Given the description of an element on the screen output the (x, y) to click on. 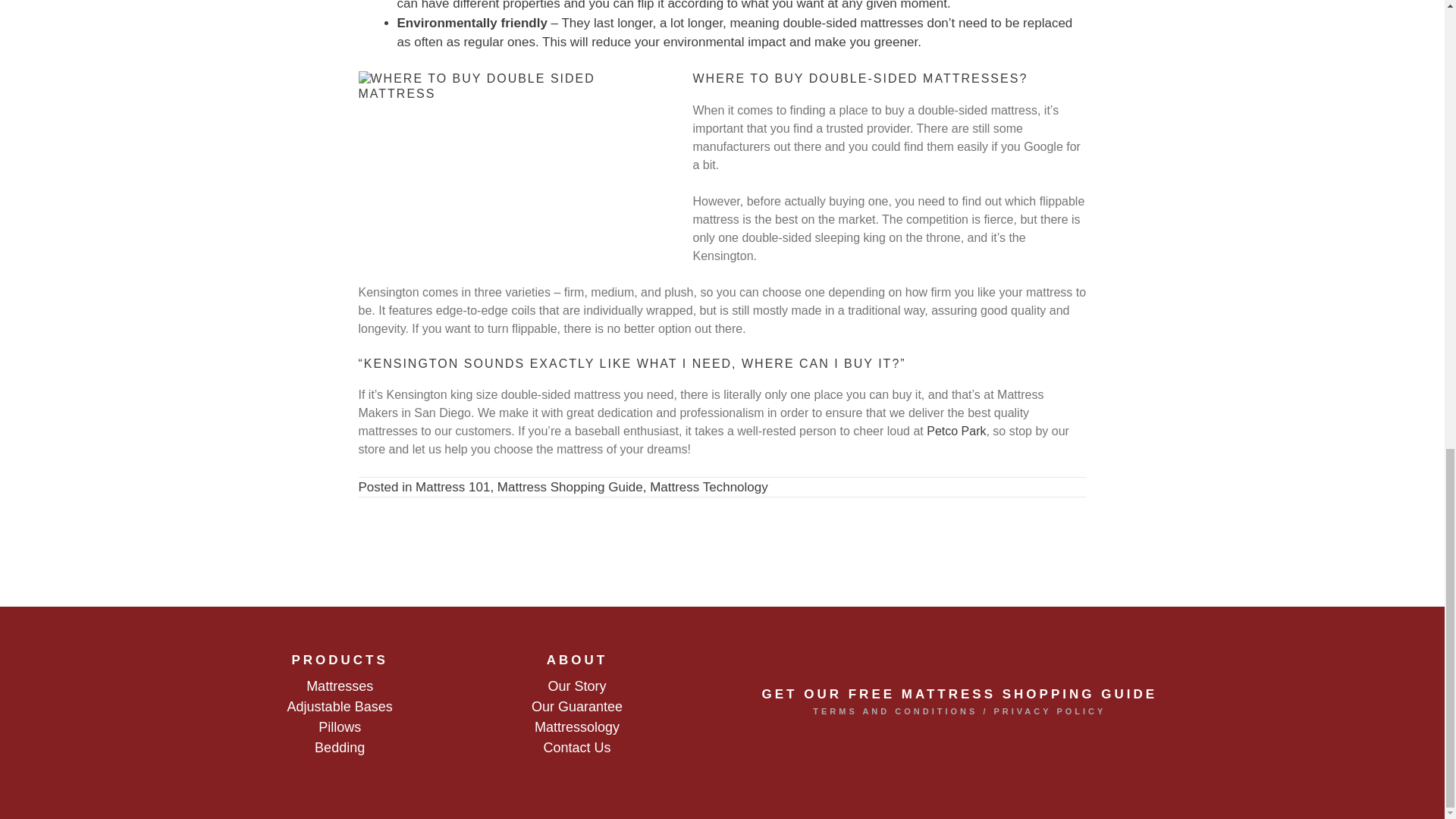
Petco Park (955, 431)
Mattress 101 (451, 486)
